Given the description of an element on the screen output the (x, y) to click on. 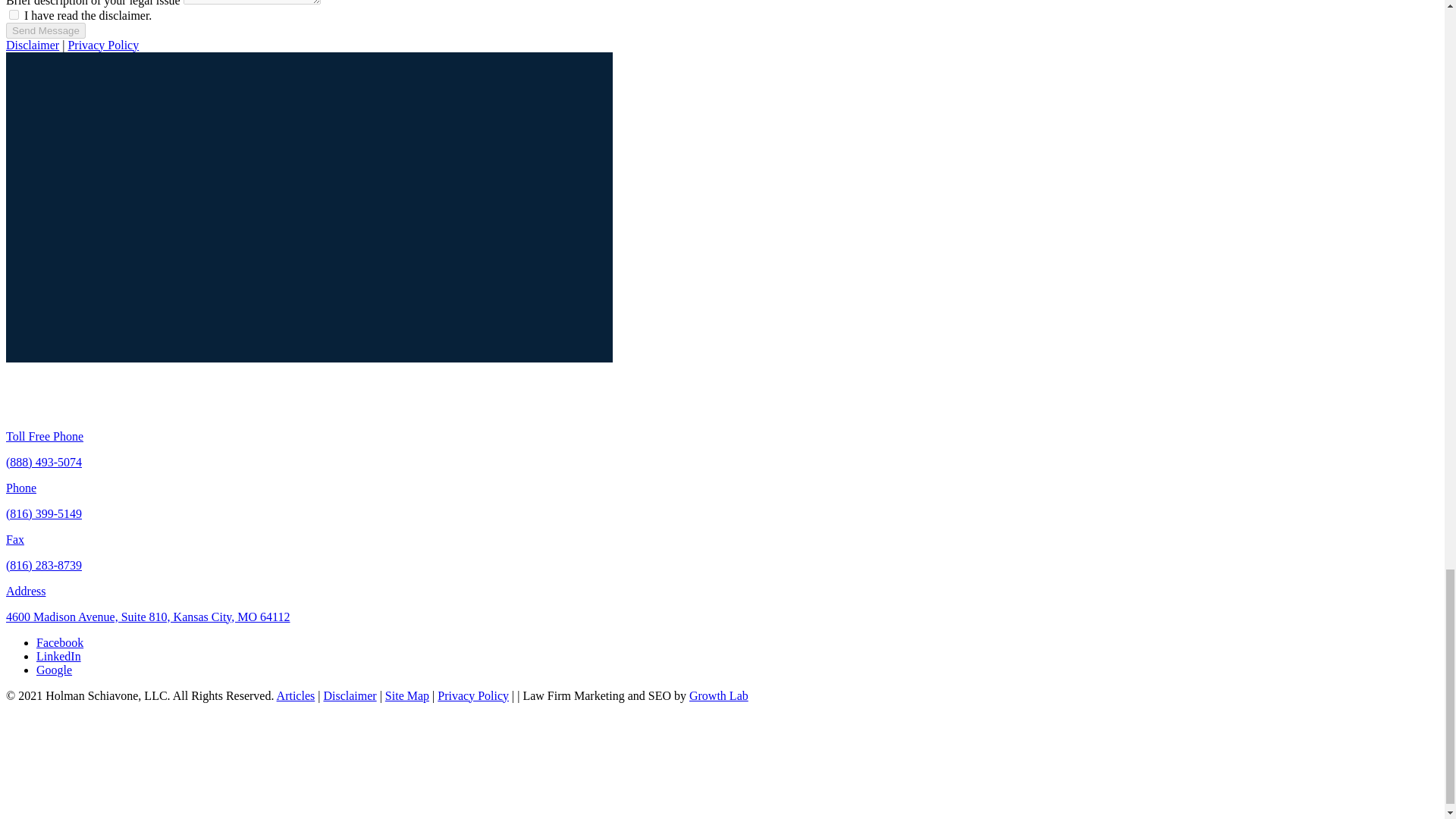
on (13, 14)
